Given the description of an element on the screen output the (x, y) to click on. 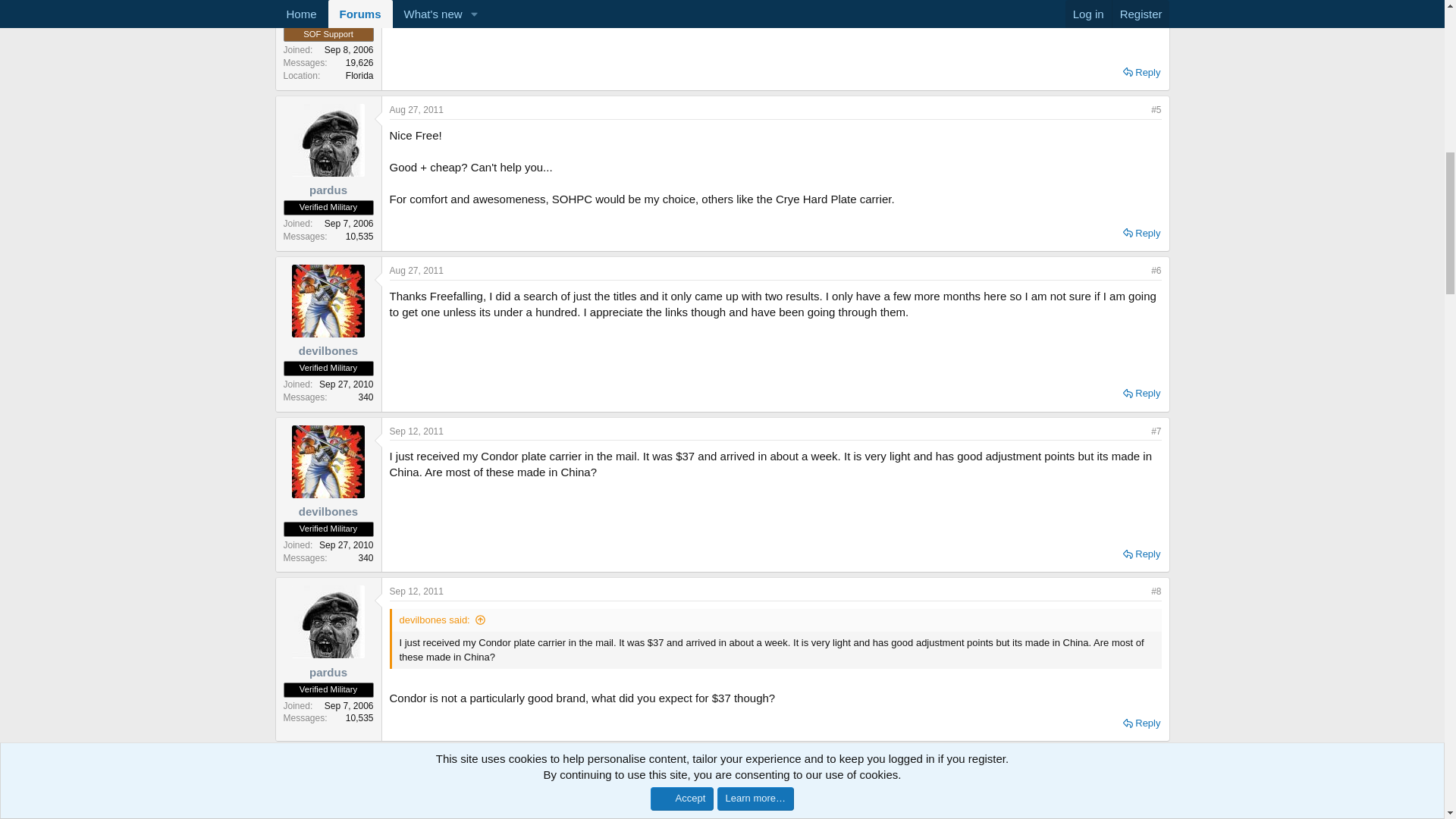
Aug 27, 2011 at 12:51 AM (417, 109)
Sep 12, 2011 at 10:52 AM (417, 430)
Sep 12, 2011 at 11:07 AM (417, 591)
Reply, quoting this message (1141, 233)
Reply, quoting this message (1141, 554)
Reply, quoting this message (1141, 72)
Reply, quoting this message (1141, 393)
Reply, quoting this message (1141, 723)
Aug 27, 2011 at 2:35 PM (417, 270)
